Given the description of an element on the screen output the (x, y) to click on. 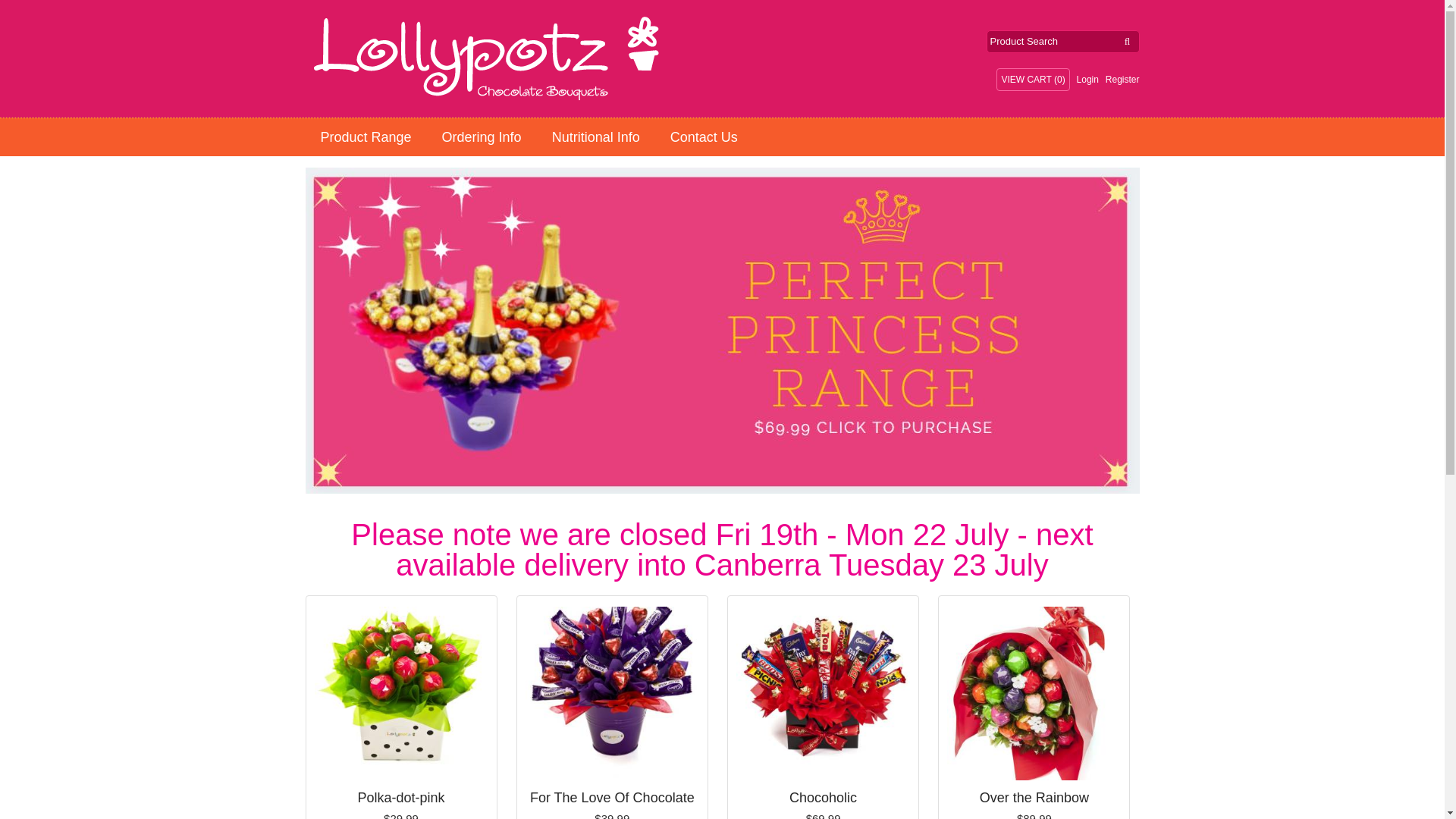
Nutritional Info (596, 136)
Over the Rainbow (1034, 695)
Register (1122, 79)
Login (1088, 79)
For The Love Of Chocolate (611, 695)
Contact Us (703, 136)
Chocoholic (823, 695)
Polka-dot-pink (400, 695)
Product Search (1051, 41)
Ordering Info (481, 136)
Lollypotz - Chocolate Bouquets (387, 58)
Product Range (365, 136)
